Given the description of an element on the screen output the (x, y) to click on. 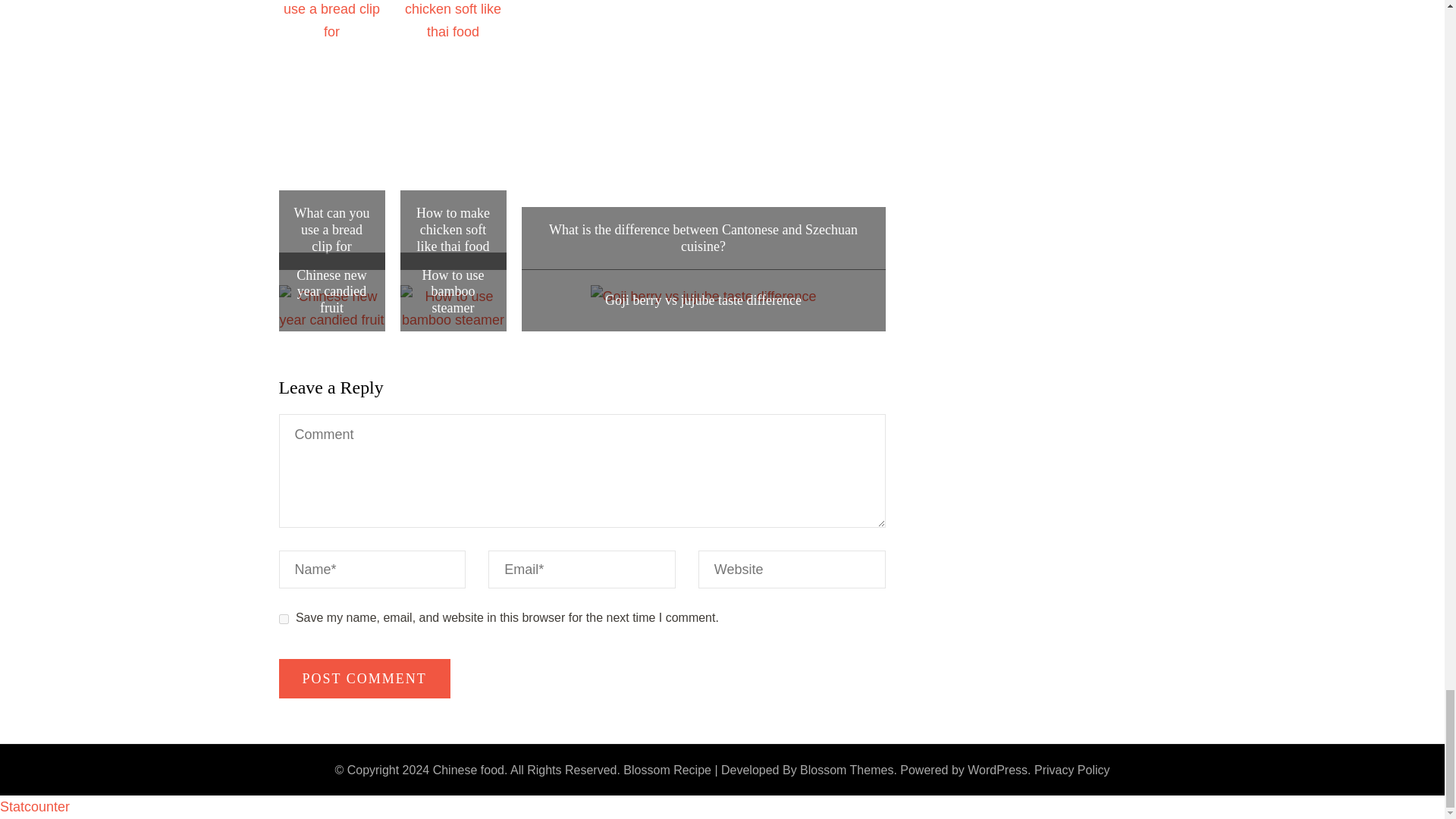
yes (283, 619)
How to make chicken soft like thai food (453, 229)
Post Comment (364, 678)
What can you use a bread clip for (331, 229)
